Given the description of an element on the screen output the (x, y) to click on. 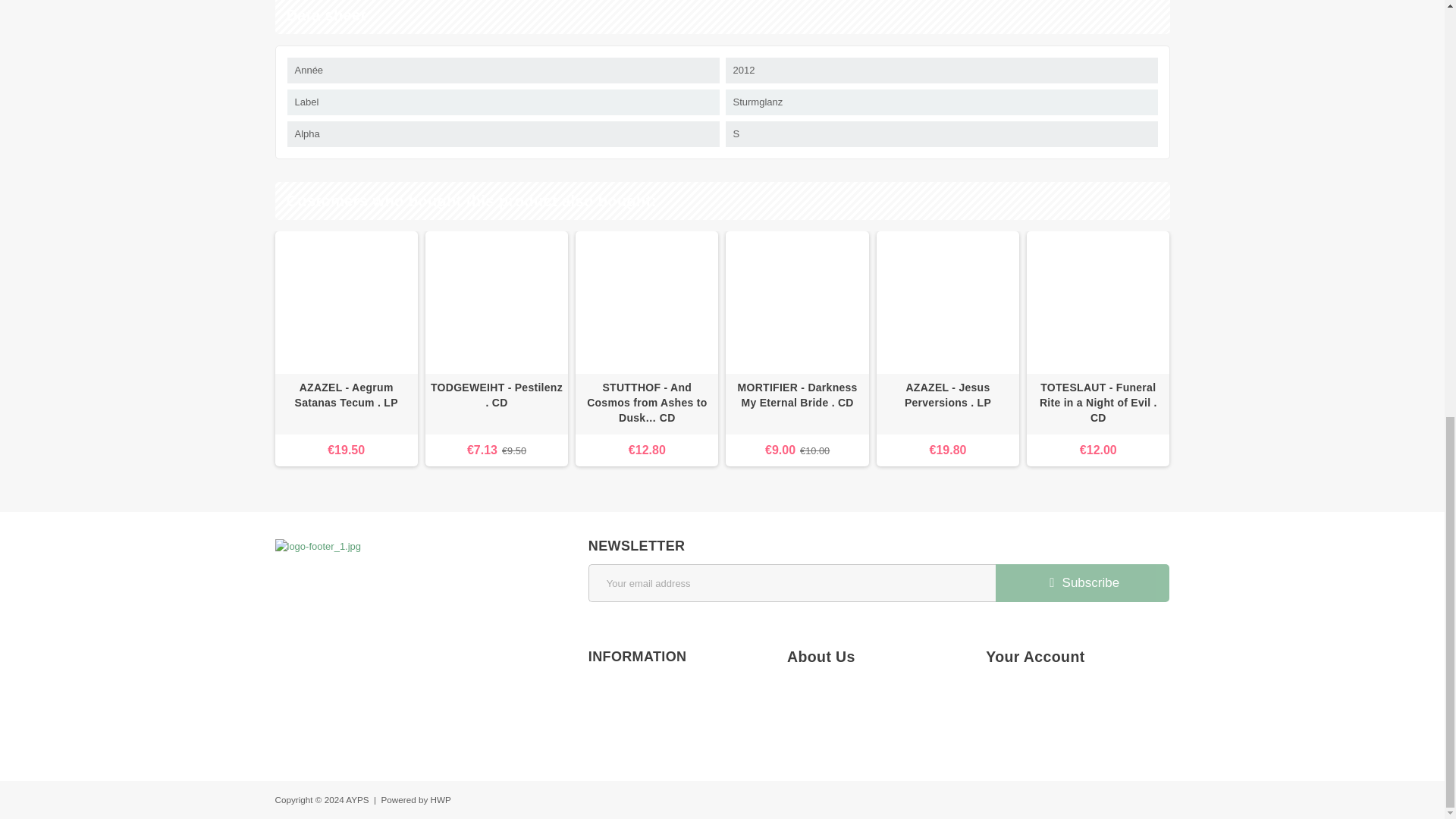
AZAZEL - Jesus Perversions . LP (947, 403)
AZAZEL - Aegrum Satanas Tecum . LP (346, 395)
TODGEWEIHT - Pestilenz . CD (496, 403)
MORTIFIER - Darkness My Eternal Bride . CD (796, 403)
AZAZEL - Aegrum Satanas Tecum . LP (345, 403)
TOTESLAUT - Funeral Rite in a Night of Evil . CD (1098, 402)
TOTESLAUT - Funeral Rite in a Night of Evil . CD (1097, 403)
TODGEWEIHT - Pestilenz . CD (496, 301)
TODGEWEIHT - Pestilenz . CD (496, 395)
AZAZEL - Jesus Perversions . LP (947, 301)
AZAZEL - Jesus Perversions . LP (947, 395)
MORTIFIER - Darkness My Eternal Bride . CD (796, 301)
MORTIFIER - Darkness My Eternal Bride . CD (796, 395)
TOTESLAUT - Funeral Rite in a Night of Evil . CD (1097, 301)
AZAZEL - Aegrum Satanas Tecum . LP (345, 301)
